Given the description of an element on the screen output the (x, y) to click on. 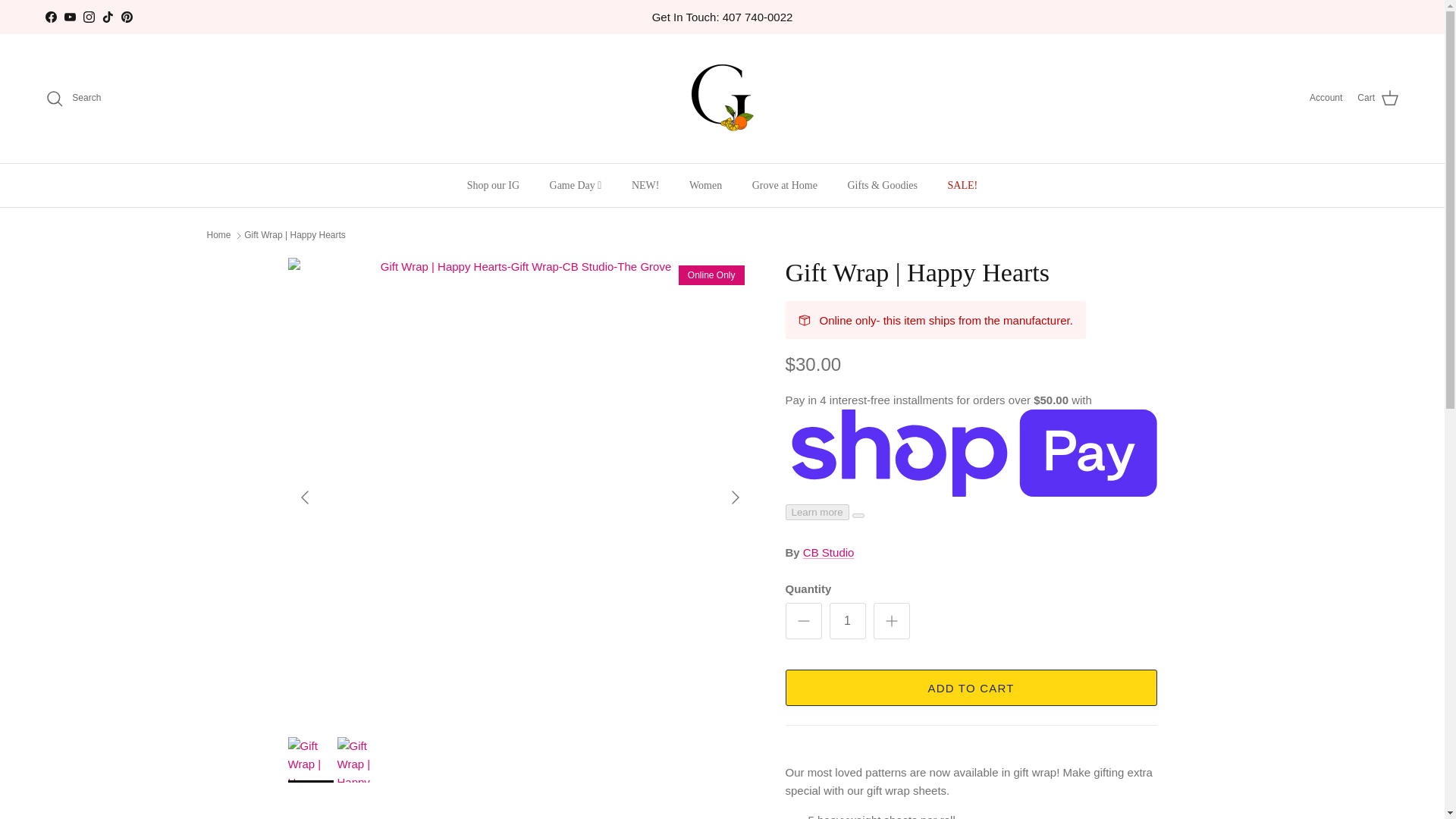
Women (705, 185)
The Grove on TikTok (107, 16)
Account (1325, 97)
The Grove on Instagram (88, 16)
The Grove (721, 98)
YouTube (69, 16)
TikTok (107, 16)
Search (72, 98)
Pinterest (126, 16)
The Grove on YouTube (69, 16)
